Given the description of an element on the screen output the (x, y) to click on. 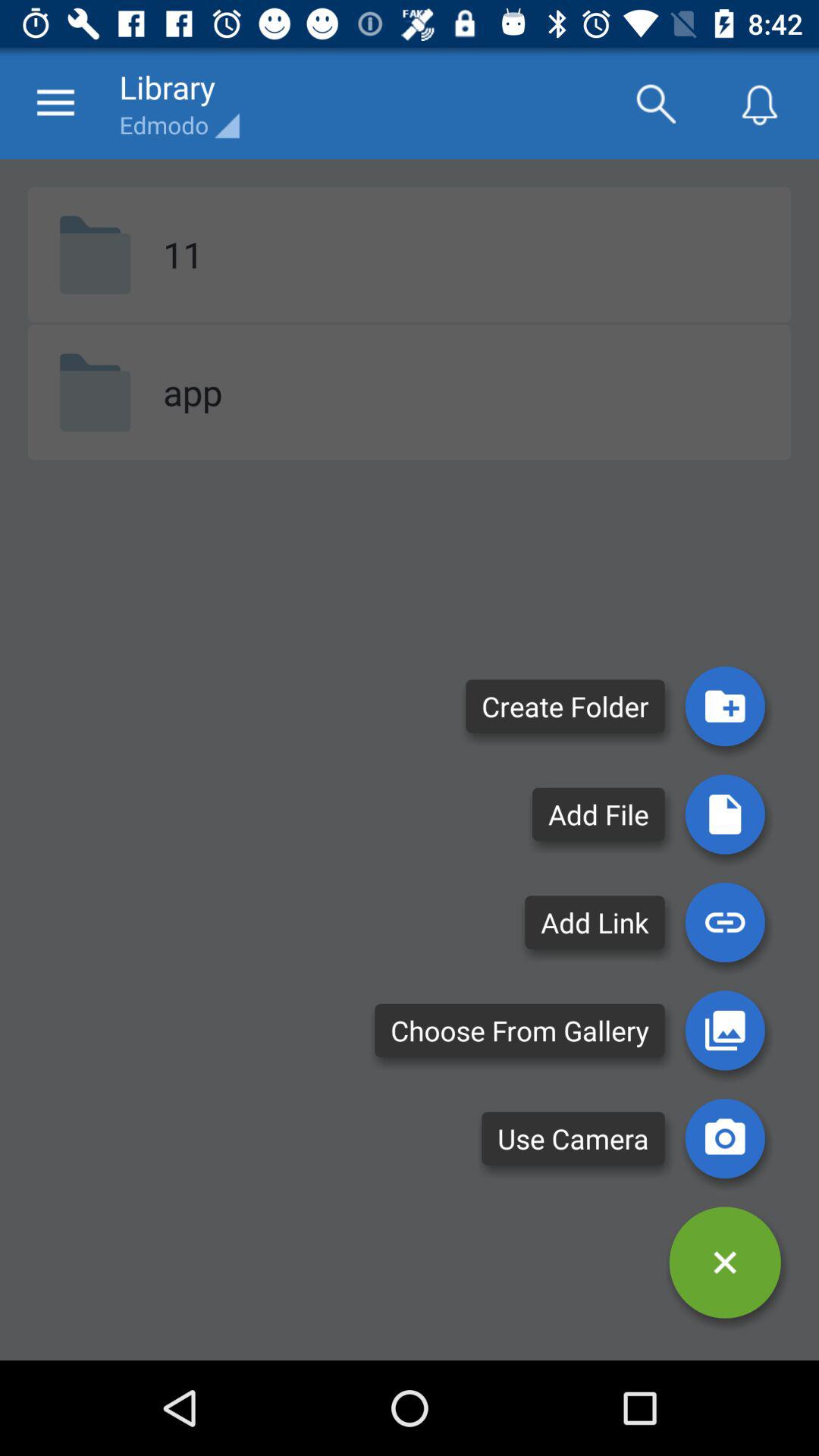
initiate the camera (725, 1138)
